Given the description of an element on the screen output the (x, y) to click on. 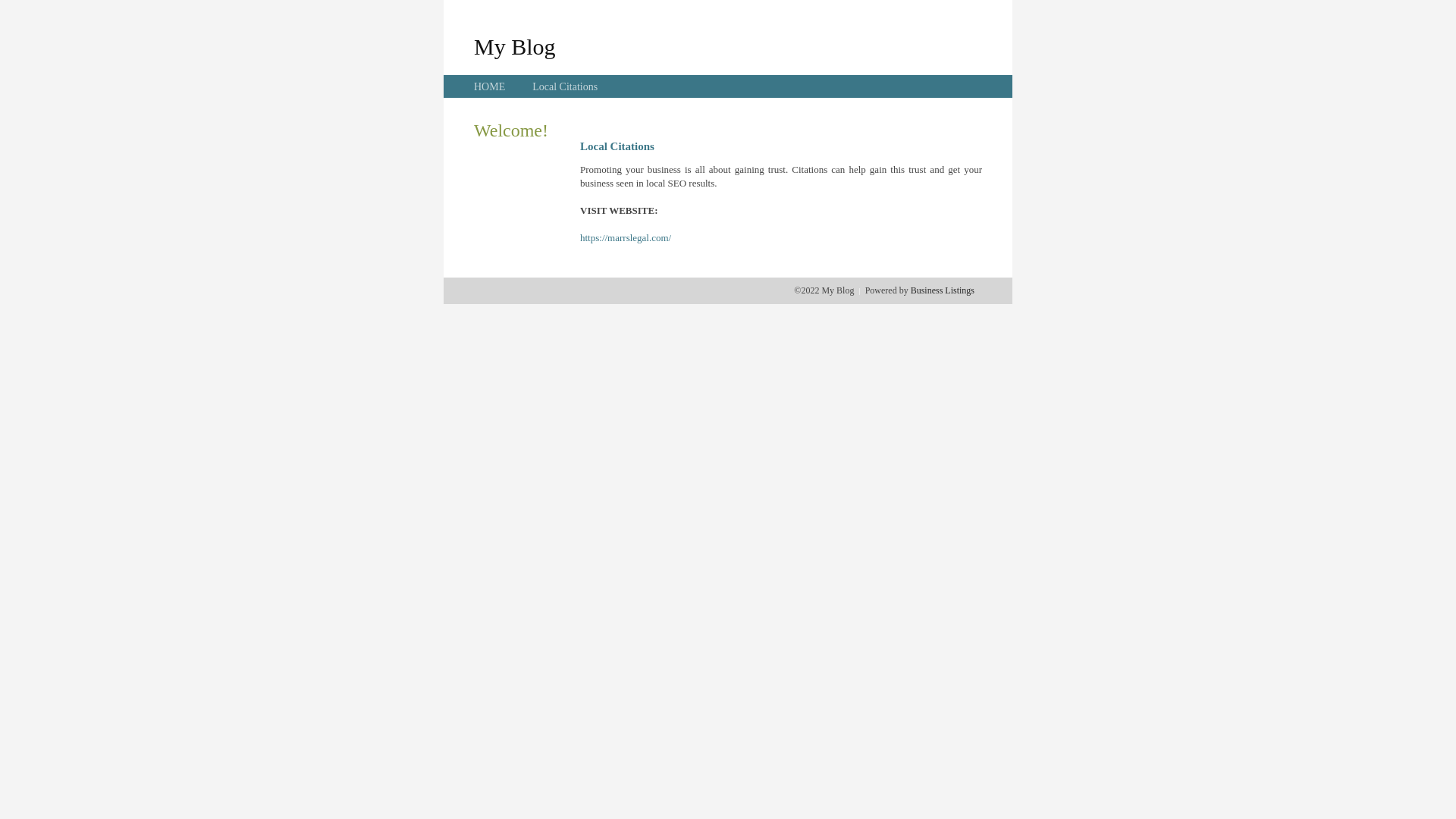
https://marrslegal.com/ Element type: text (625, 237)
Local Citations Element type: text (564, 86)
Business Listings Element type: text (942, 290)
My Blog Element type: text (514, 46)
HOME Element type: text (489, 86)
